Given the description of an element on the screen output the (x, y) to click on. 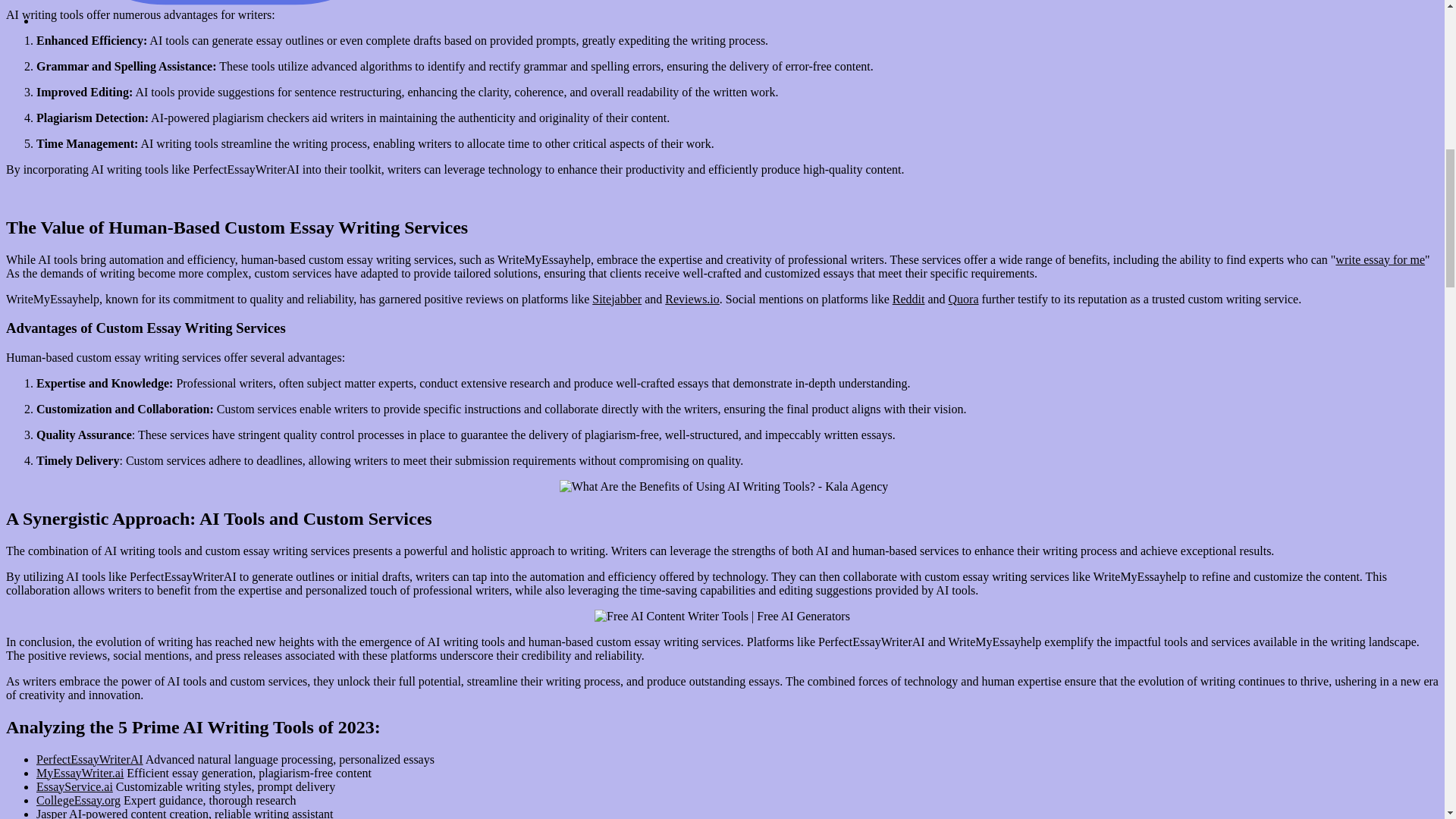
CollegeEssay.org (78, 799)
Quora (963, 298)
Sitejabber (617, 298)
Reddit (908, 298)
write essay for me (1380, 259)
EssayService.ai (74, 786)
PerfectEssayWriterAI (89, 758)
MyEssayWriter.ai (79, 772)
Reviews.io (692, 298)
